Given the description of an element on the screen output the (x, y) to click on. 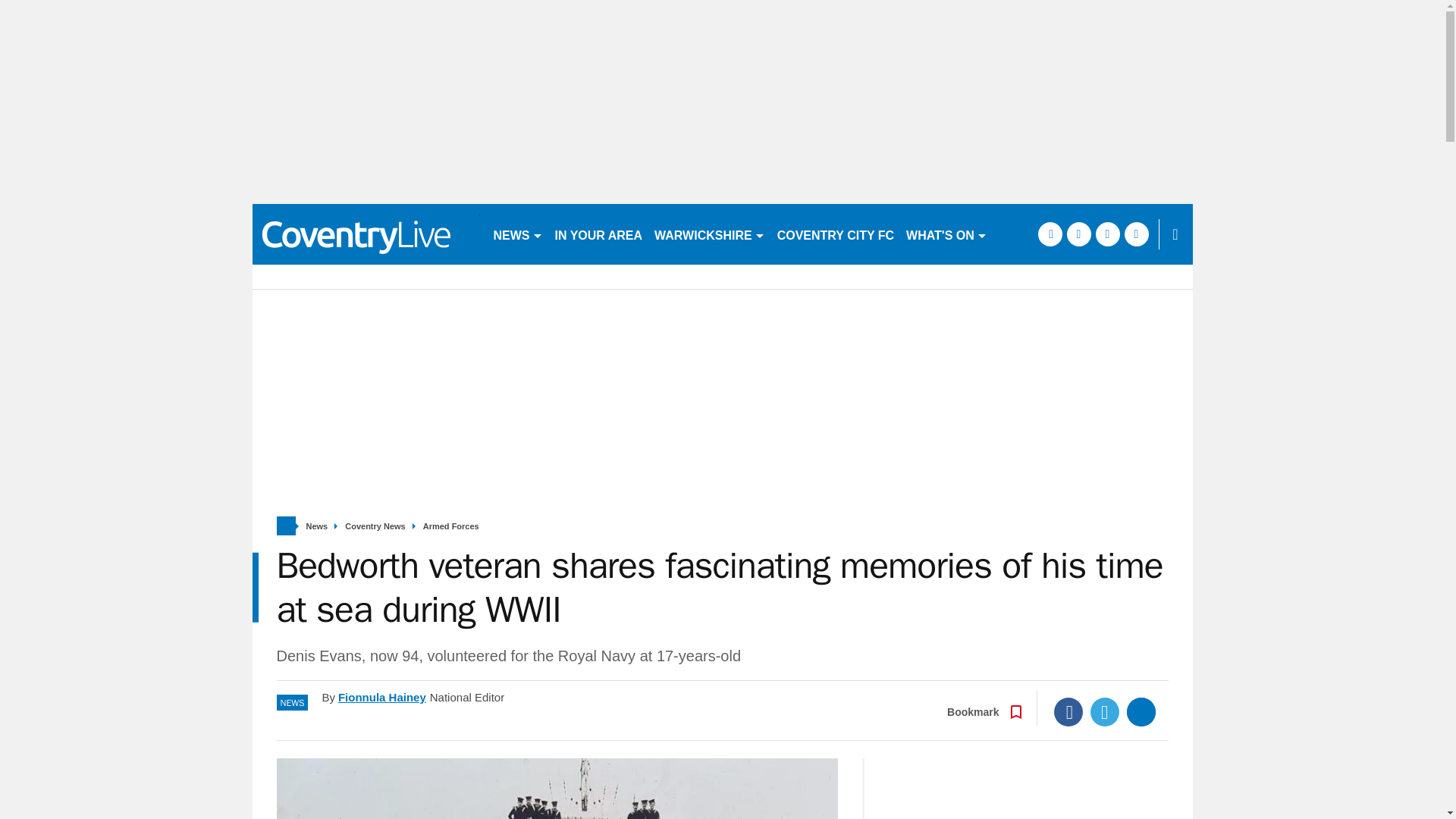
pinterest (1141, 294)
Facebook (1068, 756)
IN YOUR AREA (598, 233)
twitter (1112, 294)
coventrytelegraph (365, 233)
instagram (1170, 294)
WHAT'S ON (945, 233)
WARWICKSHIRE (709, 233)
NEWS (517, 233)
Twitter (1104, 756)
WASPS RFC (1034, 233)
COVENTRY CITY FC (835, 233)
facebook (1083, 294)
